Given the description of an element on the screen output the (x, y) to click on. 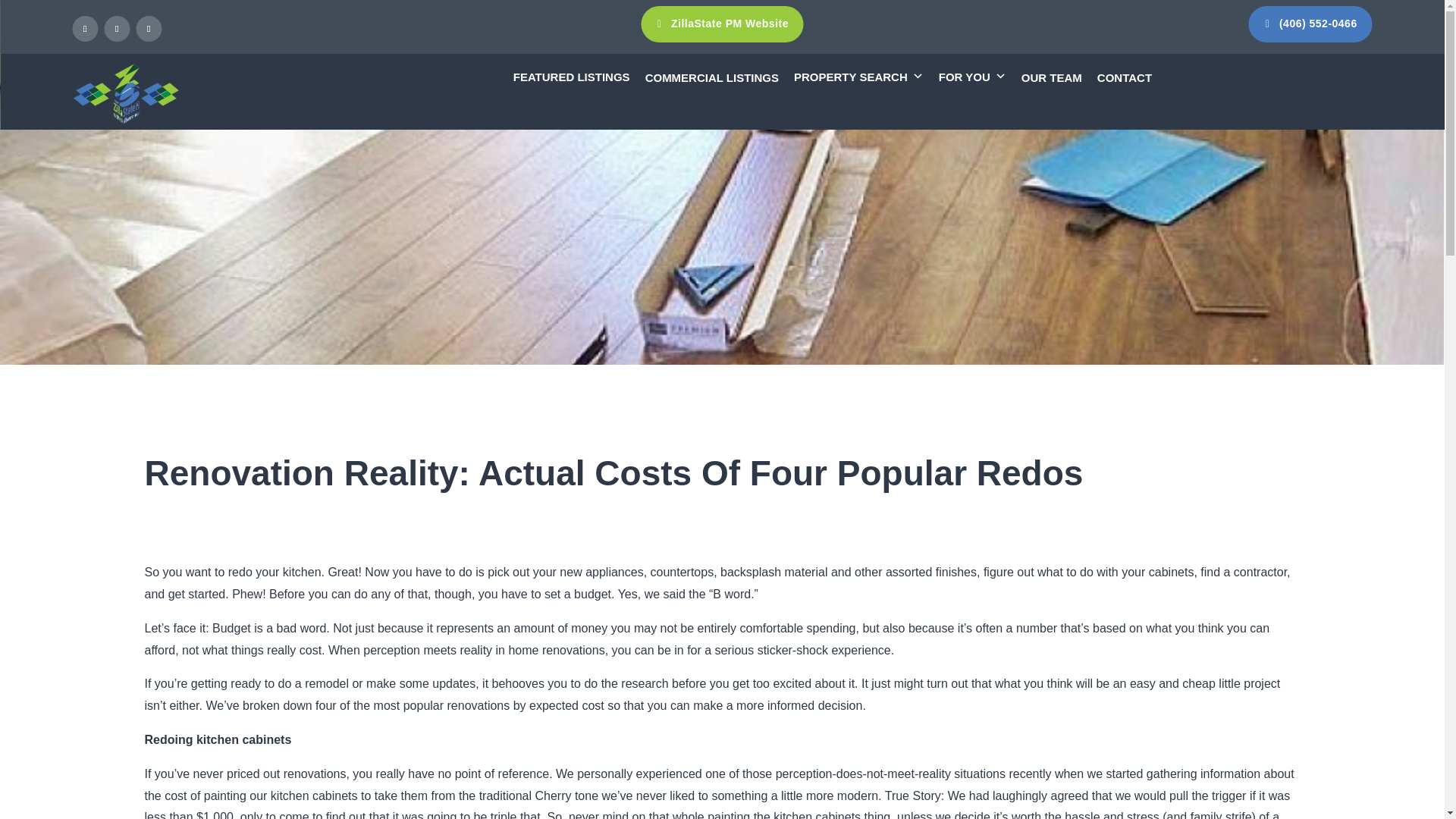
Follow on Instagram (148, 28)
FOR YOU (972, 76)
CONTACT (1123, 77)
PROPERTY SEARCH (858, 76)
Featured Listings (571, 76)
Follow on Facebook (84, 28)
FEATURED LISTINGS (571, 76)
ZillaState PM Website (721, 23)
Follow on X (116, 28)
OUR TEAM (1051, 77)
COMMERCIAL LISTINGS (711, 77)
Property Search (858, 76)
logo-transparent (125, 93)
